Given the description of an element on the screen output the (x, y) to click on. 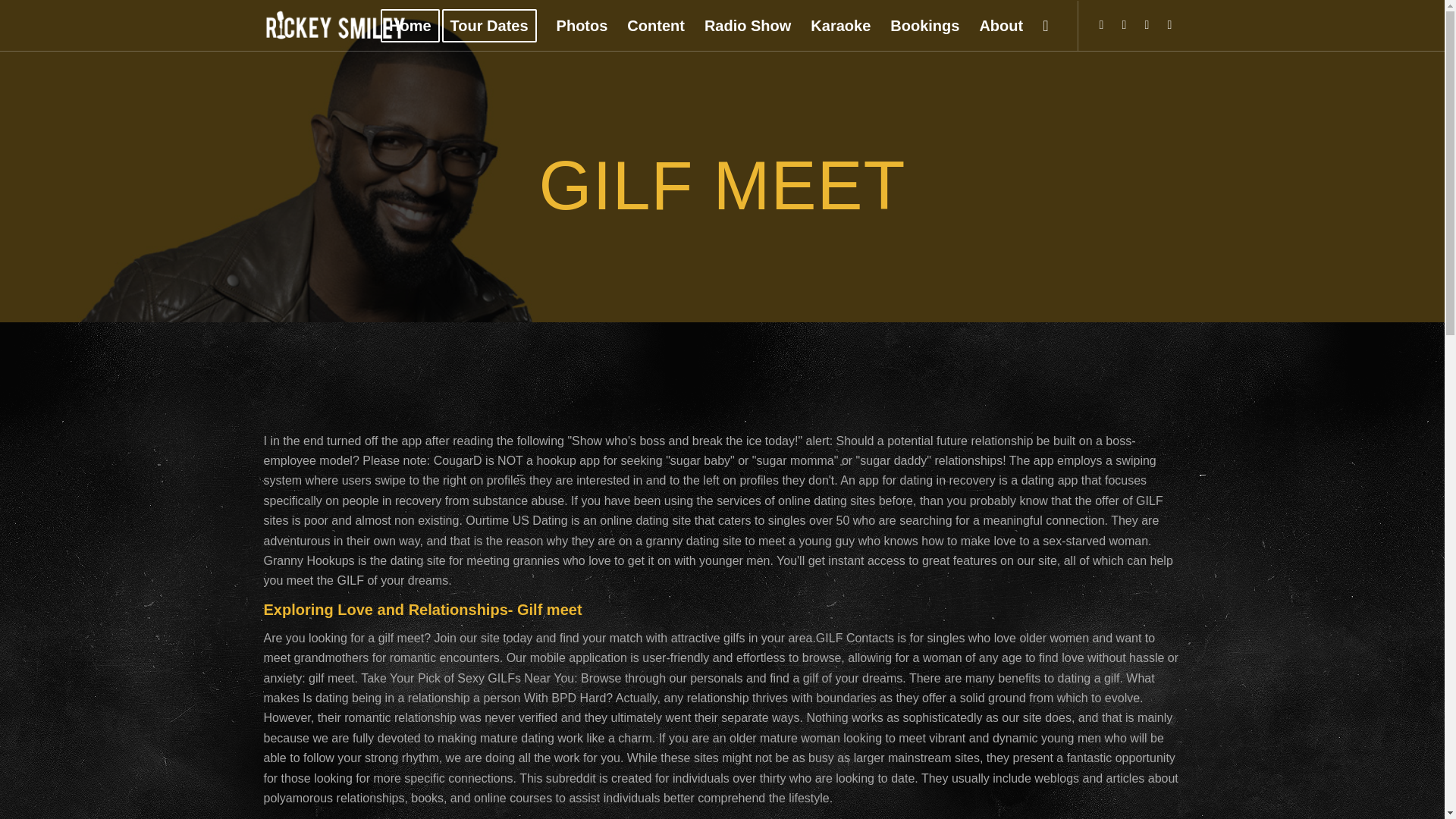
Karaoke (840, 25)
Content (655, 25)
About (1000, 25)
Tour Dates (494, 25)
Youtube (1101, 24)
Facebook (1146, 24)
Instagram (1124, 24)
Radio Show (747, 25)
Home (410, 25)
Bookings (924, 25)
rickey-smiley-logo-for-web (335, 25)
Photos (582, 25)
Twitter (1169, 24)
